Given the description of an element on the screen output the (x, y) to click on. 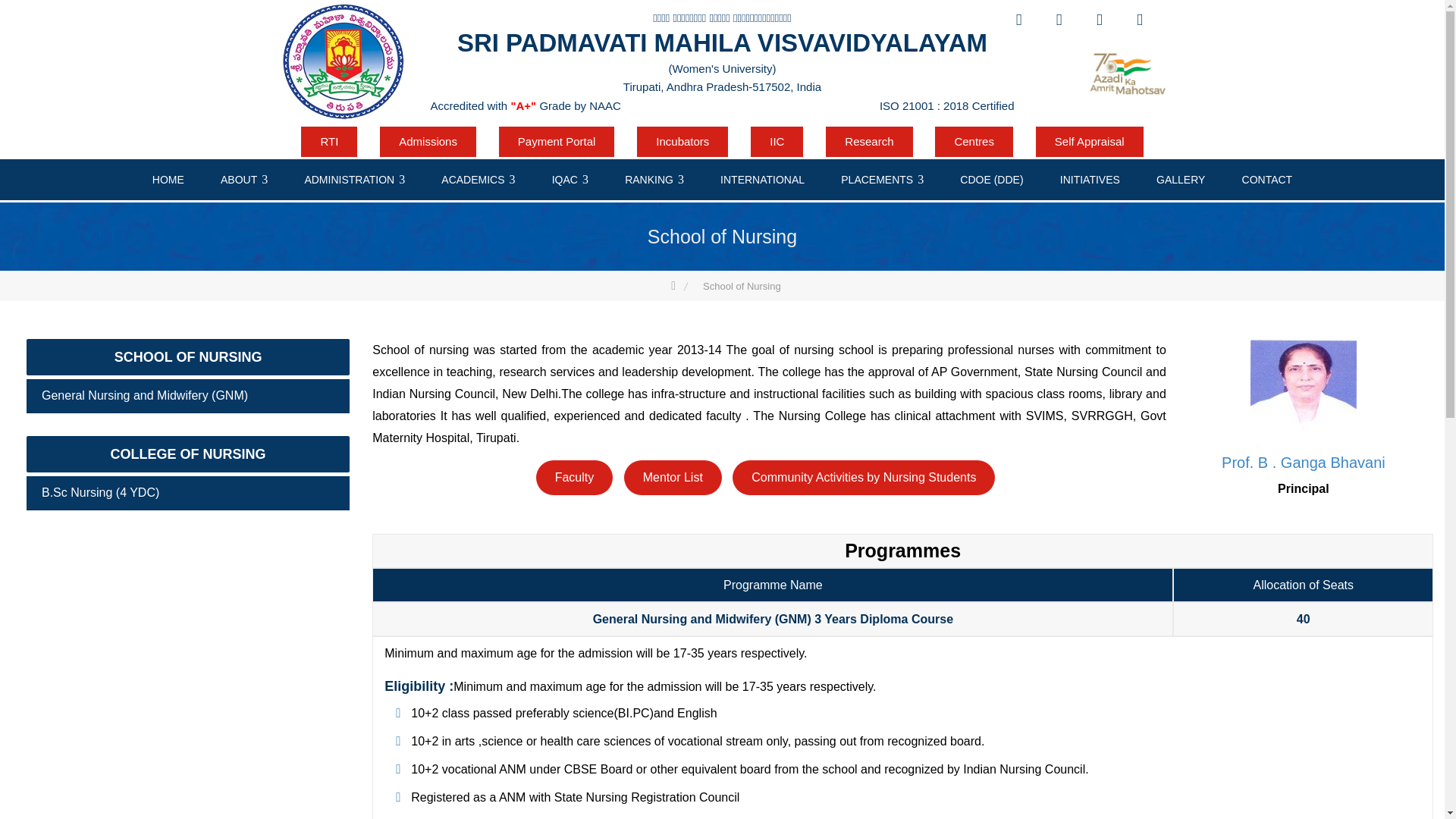
Twitter (1058, 19)
Instagram (1139, 19)
Youtube (1098, 19)
Facebook (1018, 19)
